Given the description of an element on the screen output the (x, y) to click on. 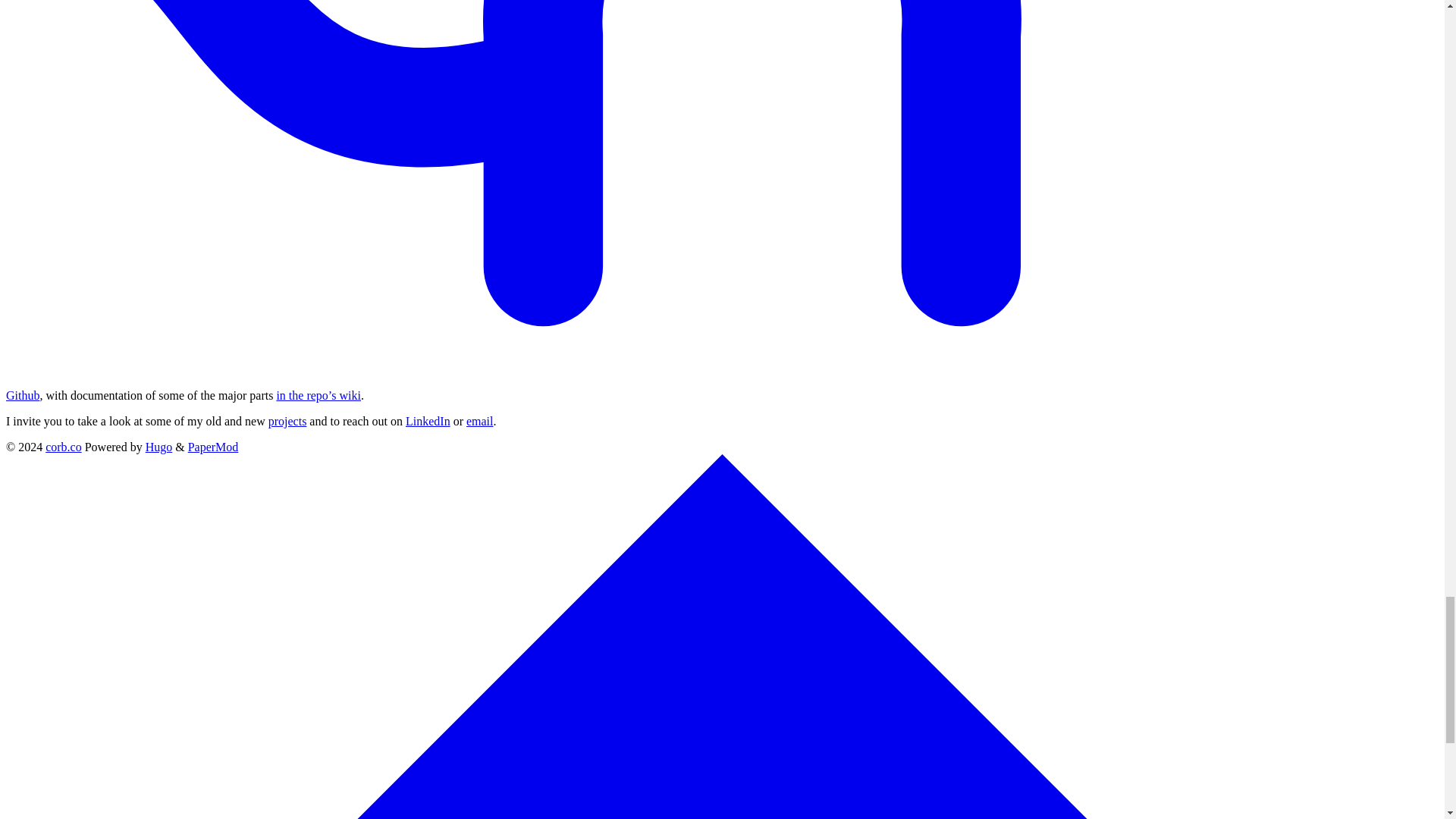
projects (287, 420)
LinkedIn (427, 420)
Hugo (159, 446)
corb.co (63, 446)
email (479, 420)
PaperMod (212, 446)
